Given the description of an element on the screen output the (x, y) to click on. 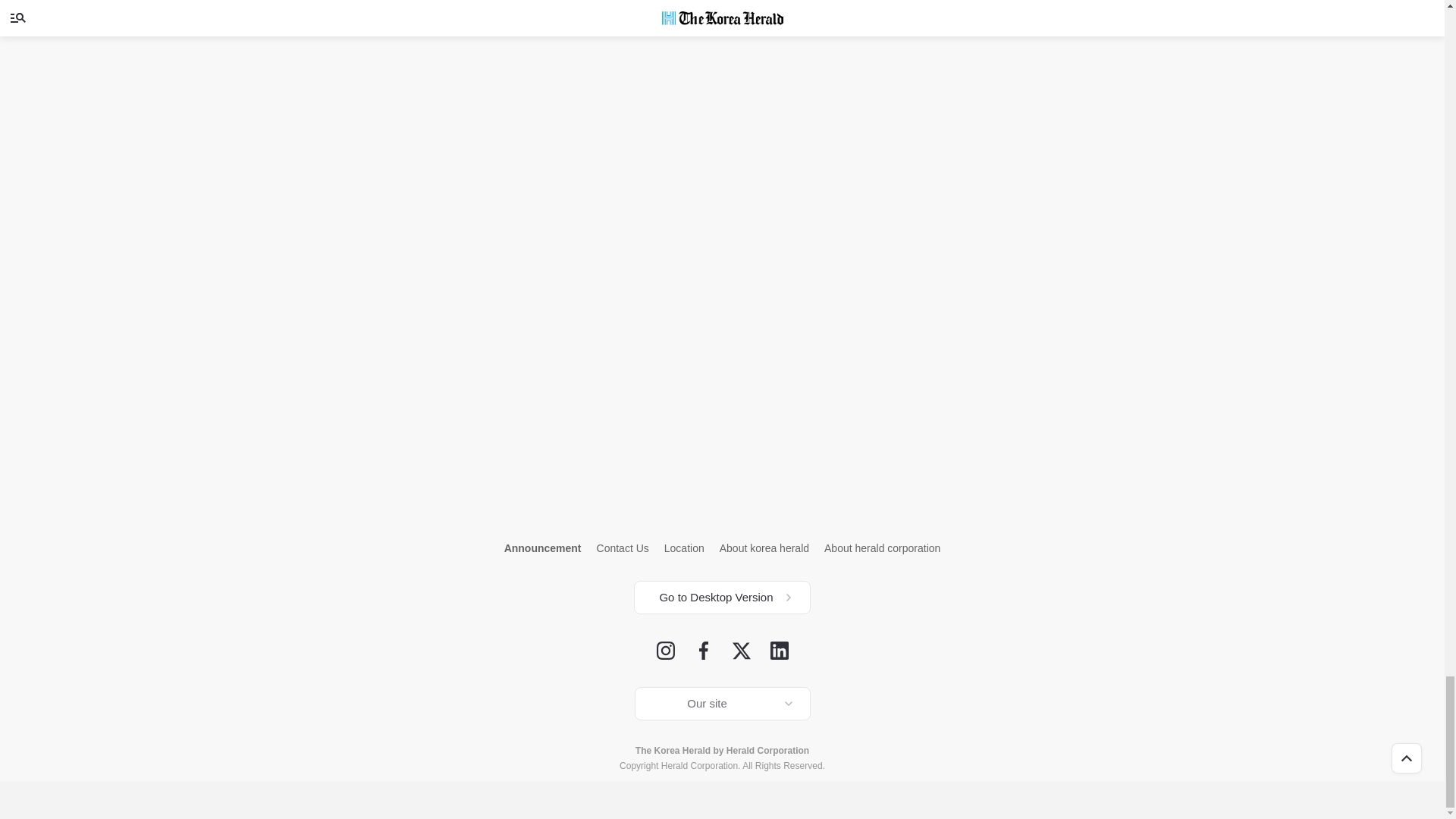
Facebook (703, 650)
Instagram (665, 650)
Twitter (741, 650)
LinkedIn (779, 650)
